Given the description of an element on the screen output the (x, y) to click on. 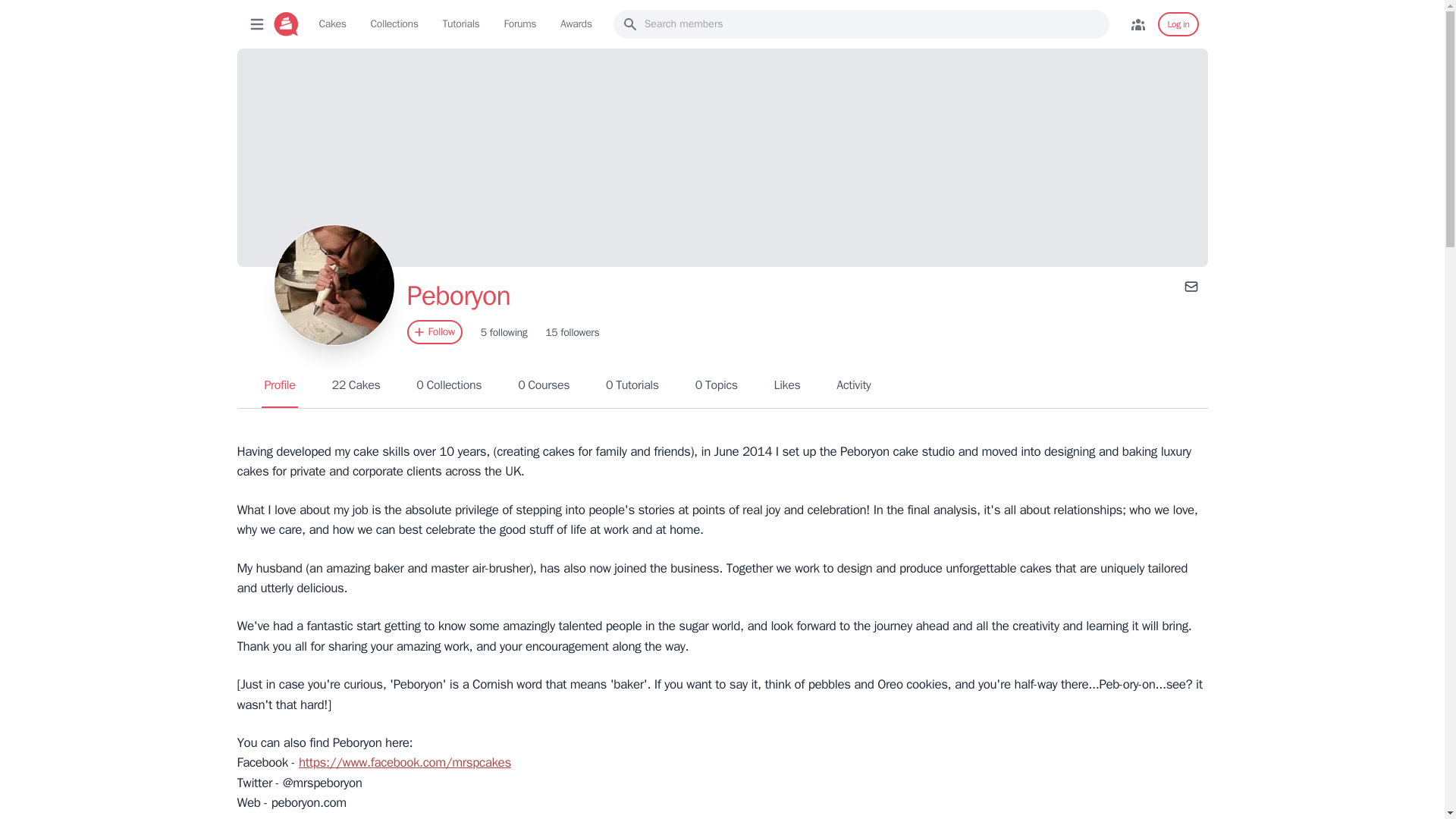
Collections (395, 23)
Follow (433, 331)
Cakes (448, 385)
Log in (332, 23)
Peboryon (571, 332)
